Given the description of an element on the screen output the (x, y) to click on. 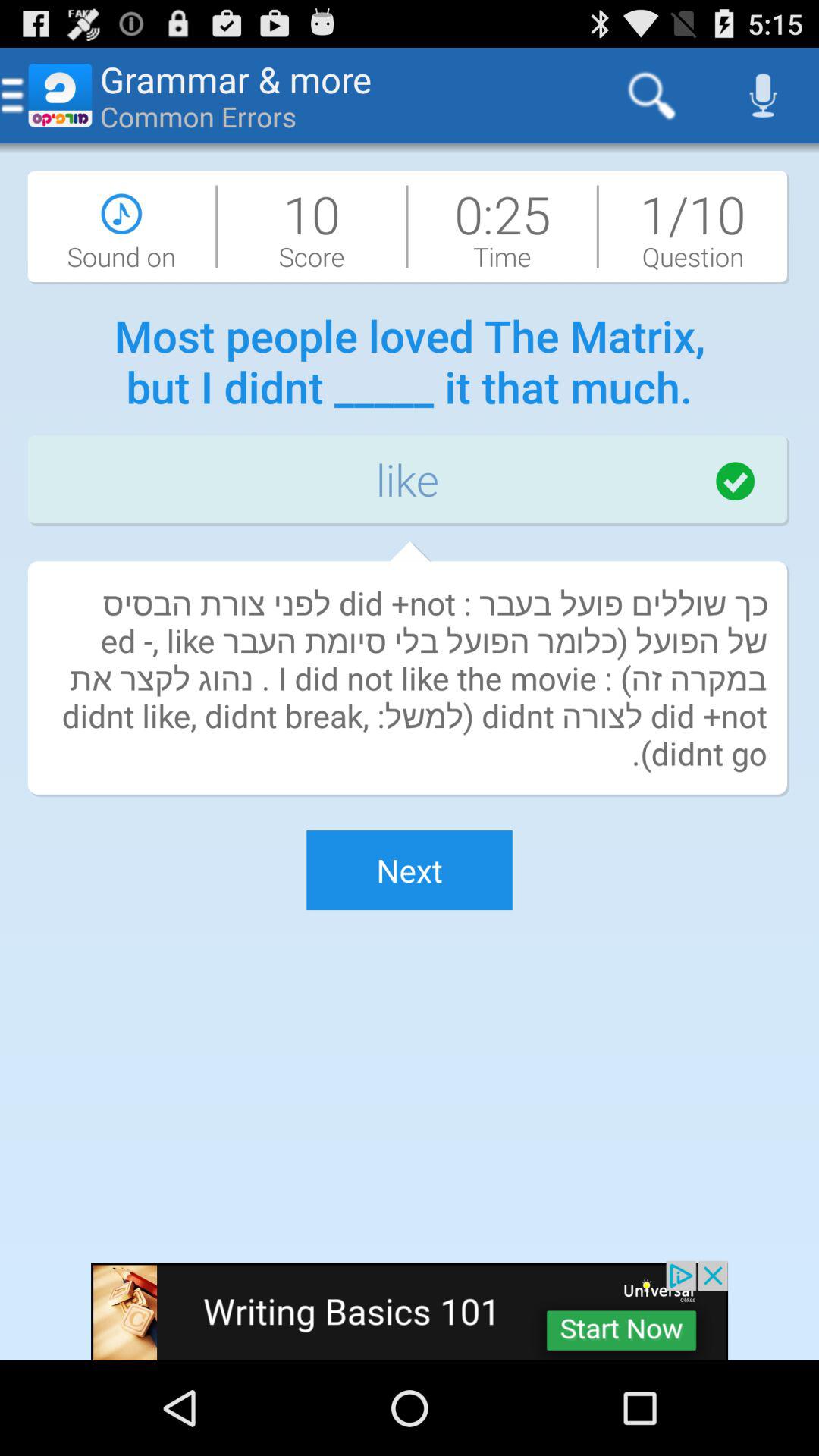
open advertisement (409, 1310)
